Given the description of an element on the screen output the (x, y) to click on. 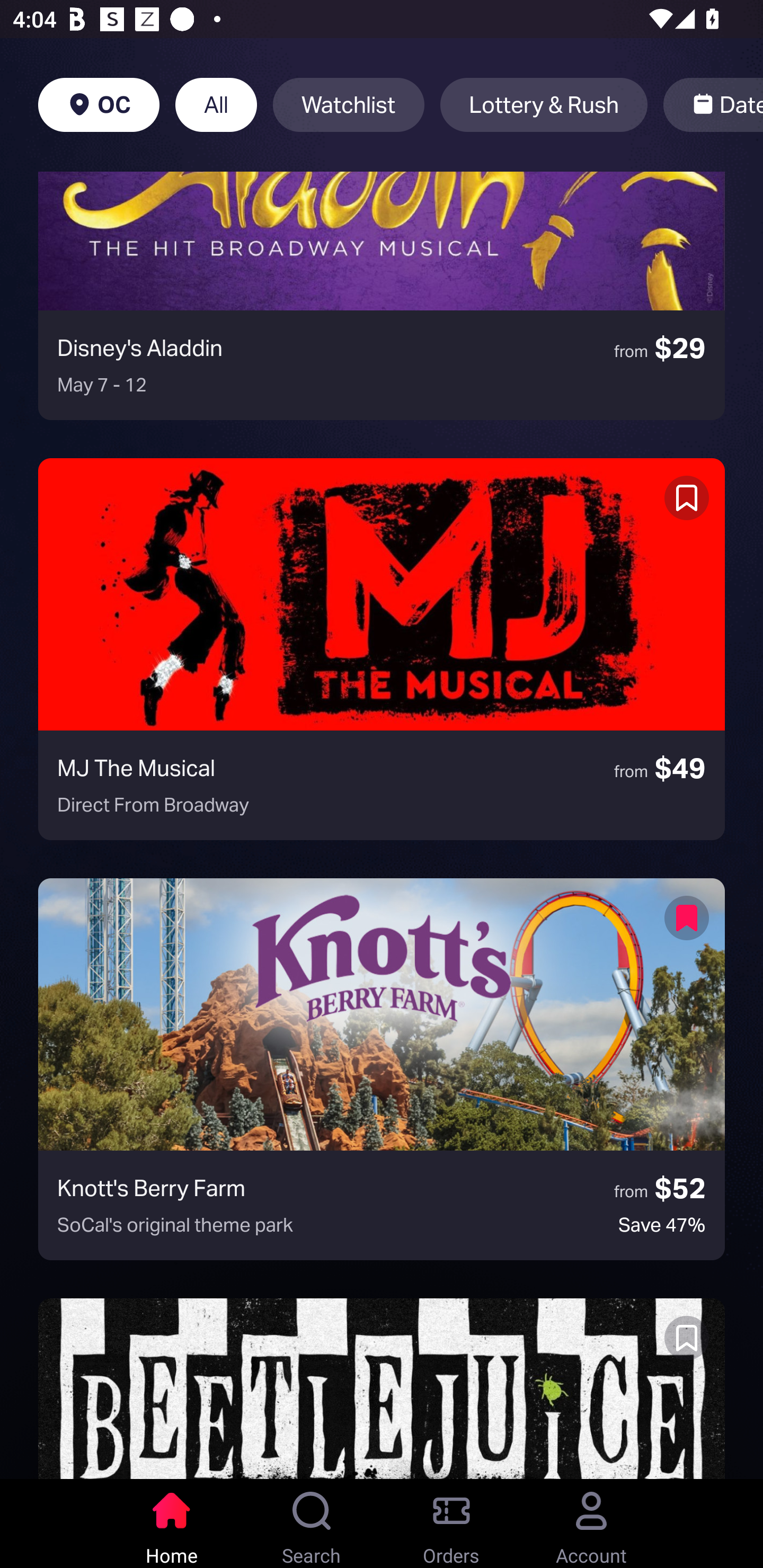
OC (98, 104)
All (216, 104)
Watchlist (348, 104)
Lottery & Rush (543, 104)
Disney's Aladdin from $29 May 7 - 12 (381, 295)
MJ The Musical from $49 Direct From Broadway (381, 648)
Search (311, 1523)
Orders (451, 1523)
Account (591, 1523)
